Given the description of an element on the screen output the (x, y) to click on. 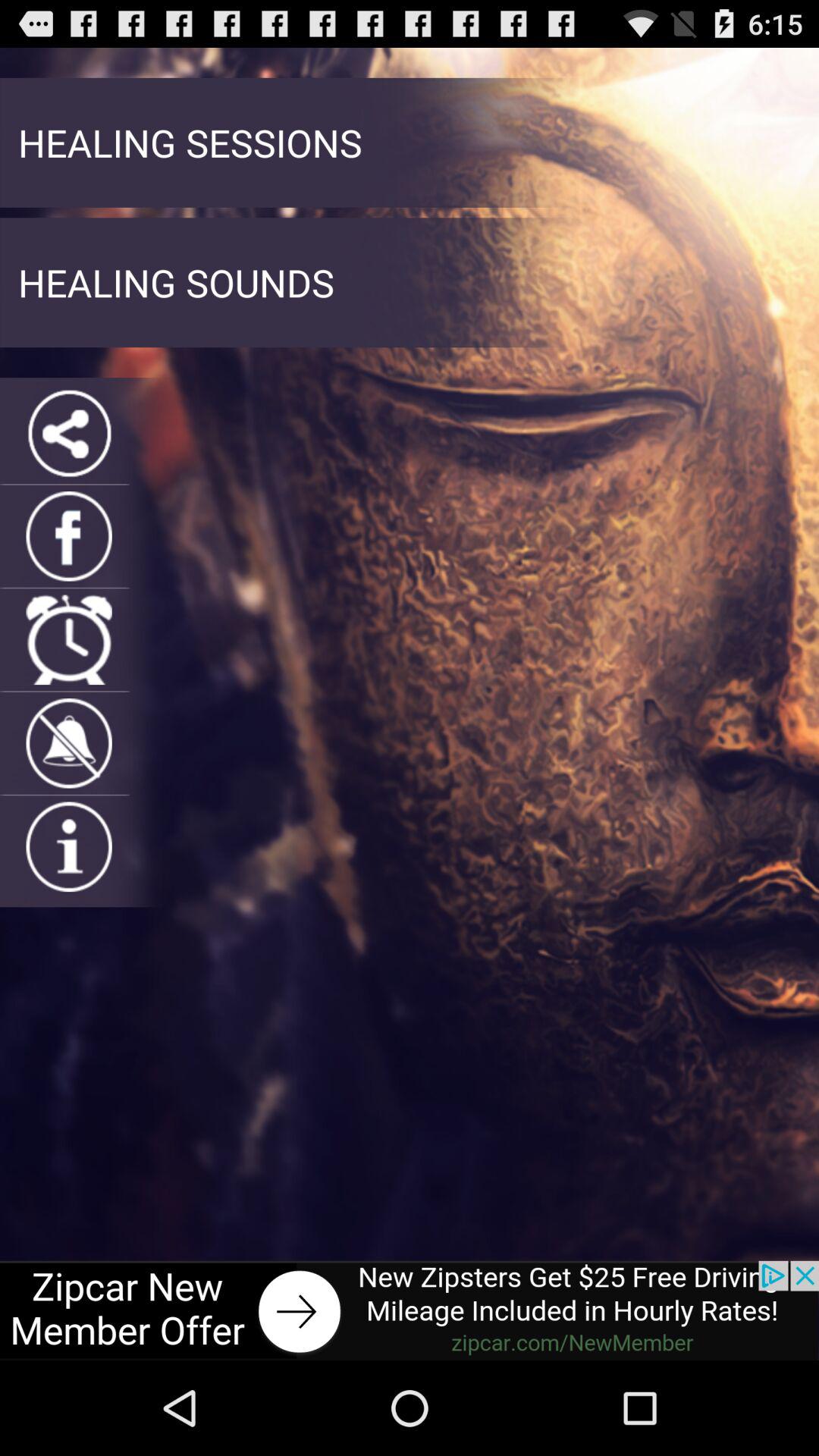
go to facebook (69, 536)
